Given the description of an element on the screen output the (x, y) to click on. 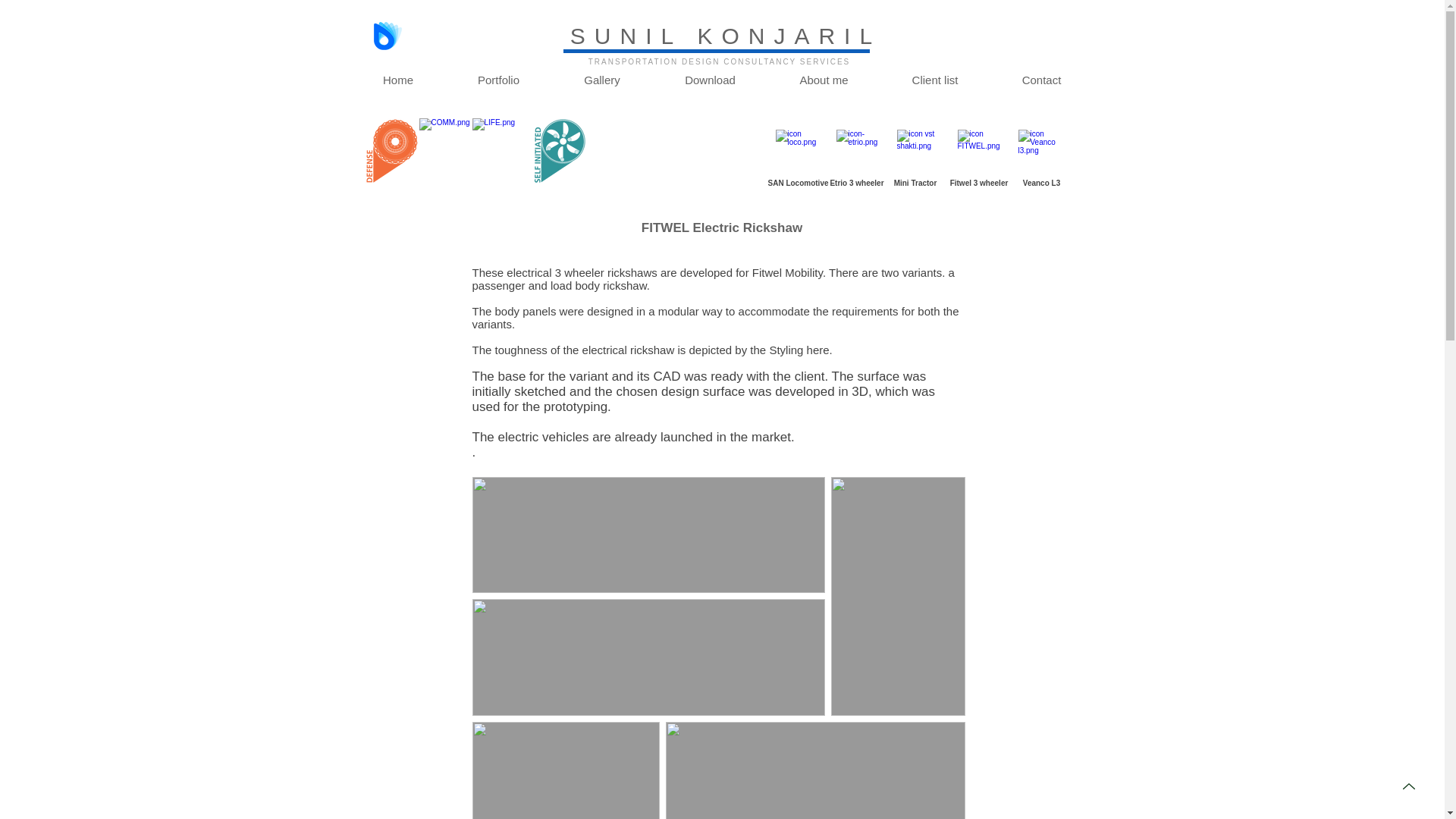
Contact (1041, 80)
Fitwel 3 wheeler (978, 183)
Client list (934, 80)
SUNIL KONJARIL (725, 35)
Home (397, 80)
Portfolio (498, 80)
Etrio 3 wheeler (856, 183)
Download (709, 80)
Veanco L3 (1041, 183)
Mini Tractor (914, 183)
